Given the description of an element on the screen output the (x, y) to click on. 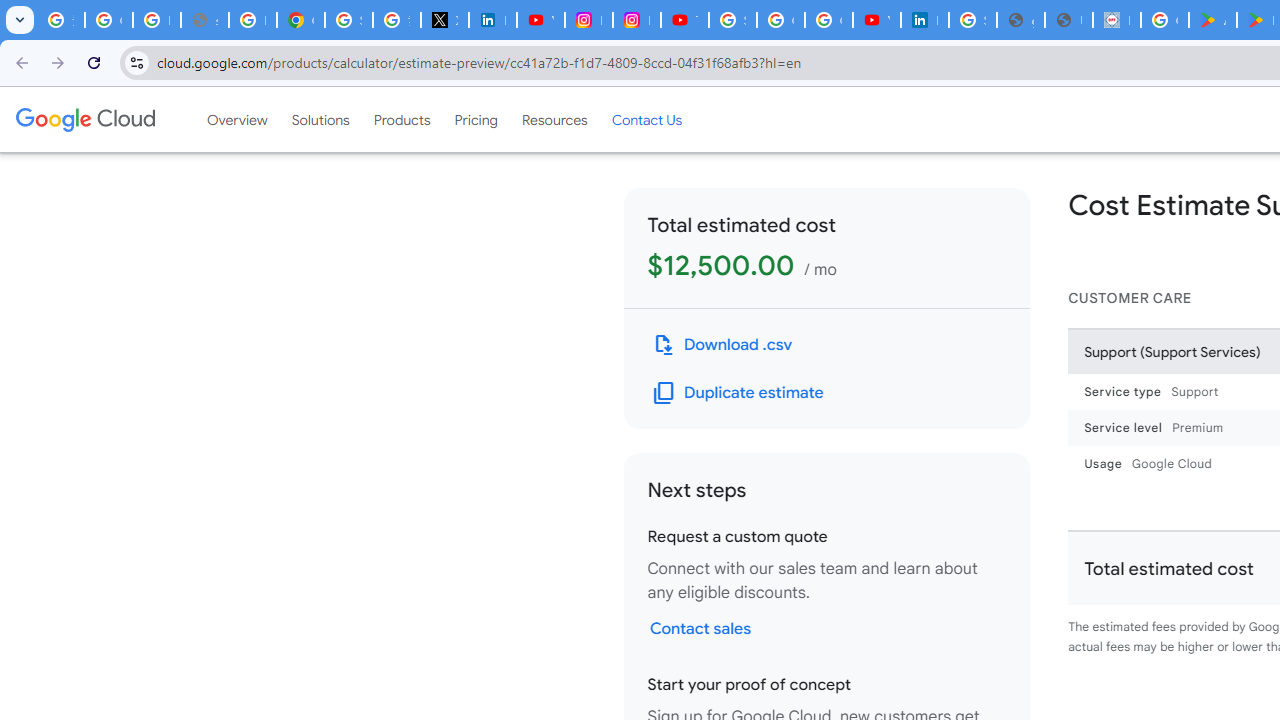
Privacy Help Center - Policies Help (252, 20)
YouTube Content Monetization Policies - How YouTube Works (540, 20)
Contact Us (646, 119)
support.google.com - Network error (204, 20)
Sign in - Google Accounts (348, 20)
Android Apps on Google Play (1212, 20)
